Given the description of an element on the screen output the (x, y) to click on. 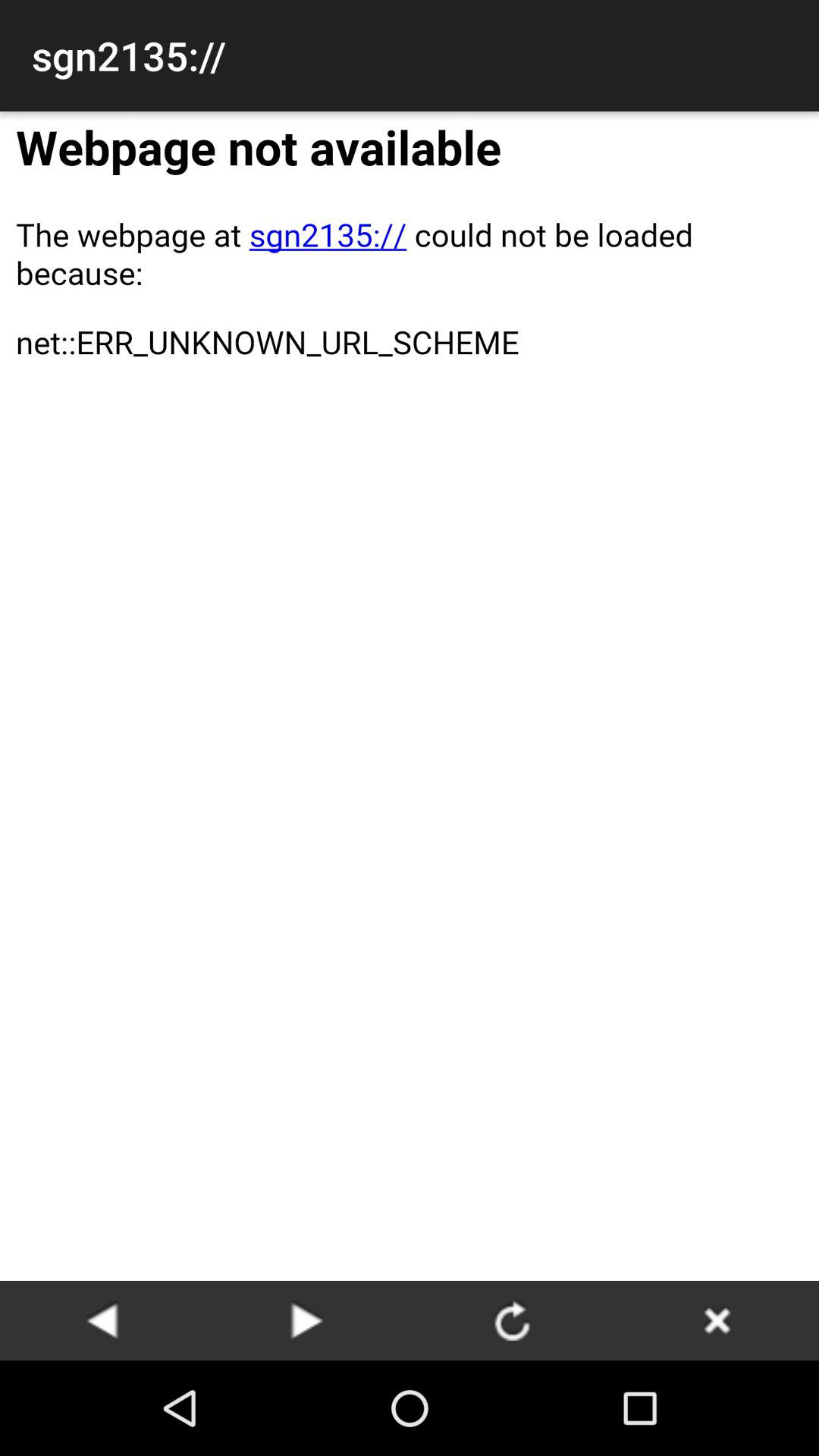
close (716, 1320)
